Given the description of an element on the screen output the (x, y) to click on. 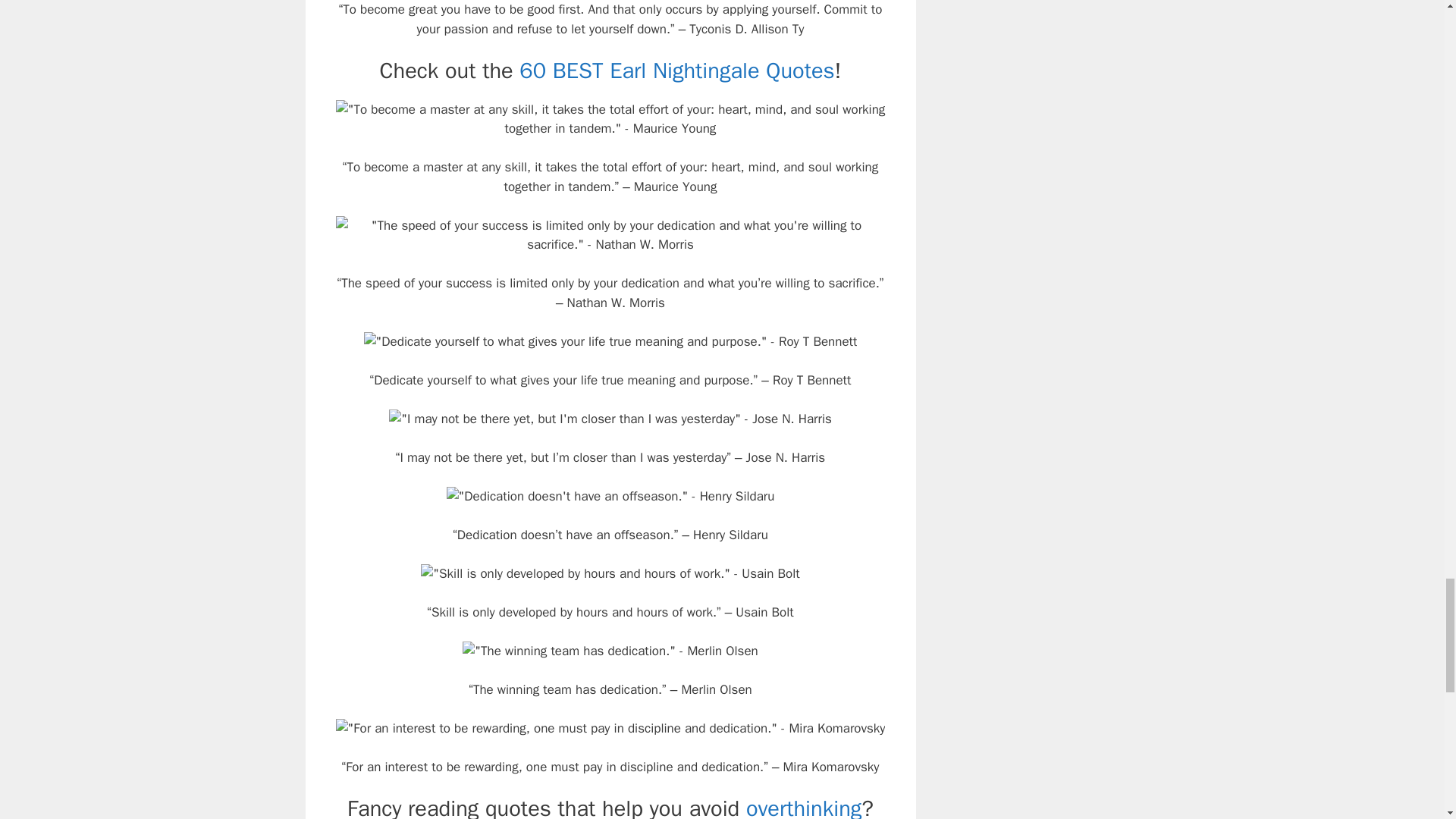
60 BEST Earl Nightingale Quotes (676, 70)
overthinking (803, 806)
